Given the description of an element on the screen output the (x, y) to click on. 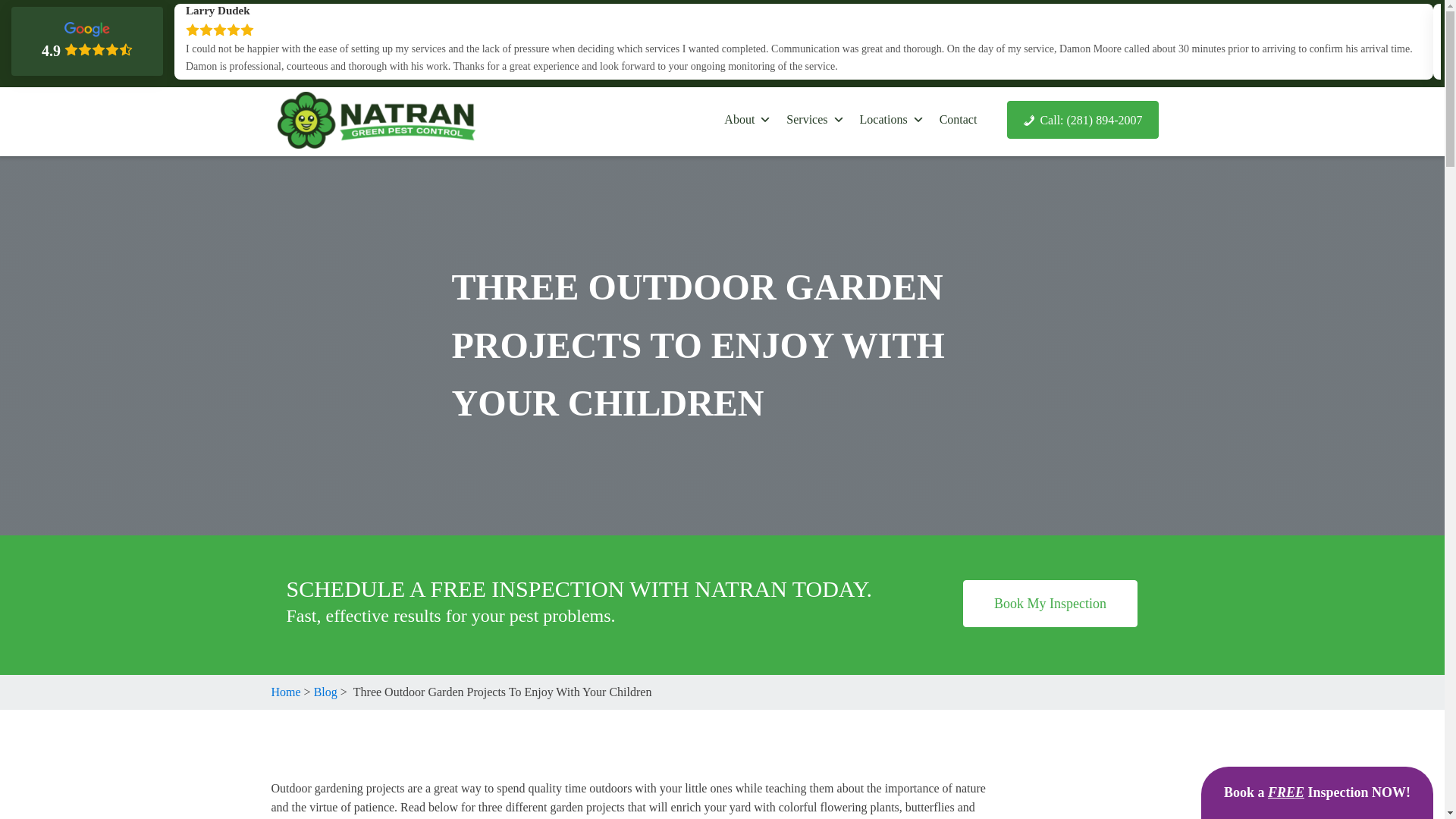
Book a FREE Inspection NOW! (1316, 792)
Contact (958, 119)
Book My Inspection (1049, 603)
Home (285, 691)
Locations (891, 119)
About (747, 119)
Services (814, 119)
Blog (325, 691)
